Given the description of an element on the screen output the (x, y) to click on. 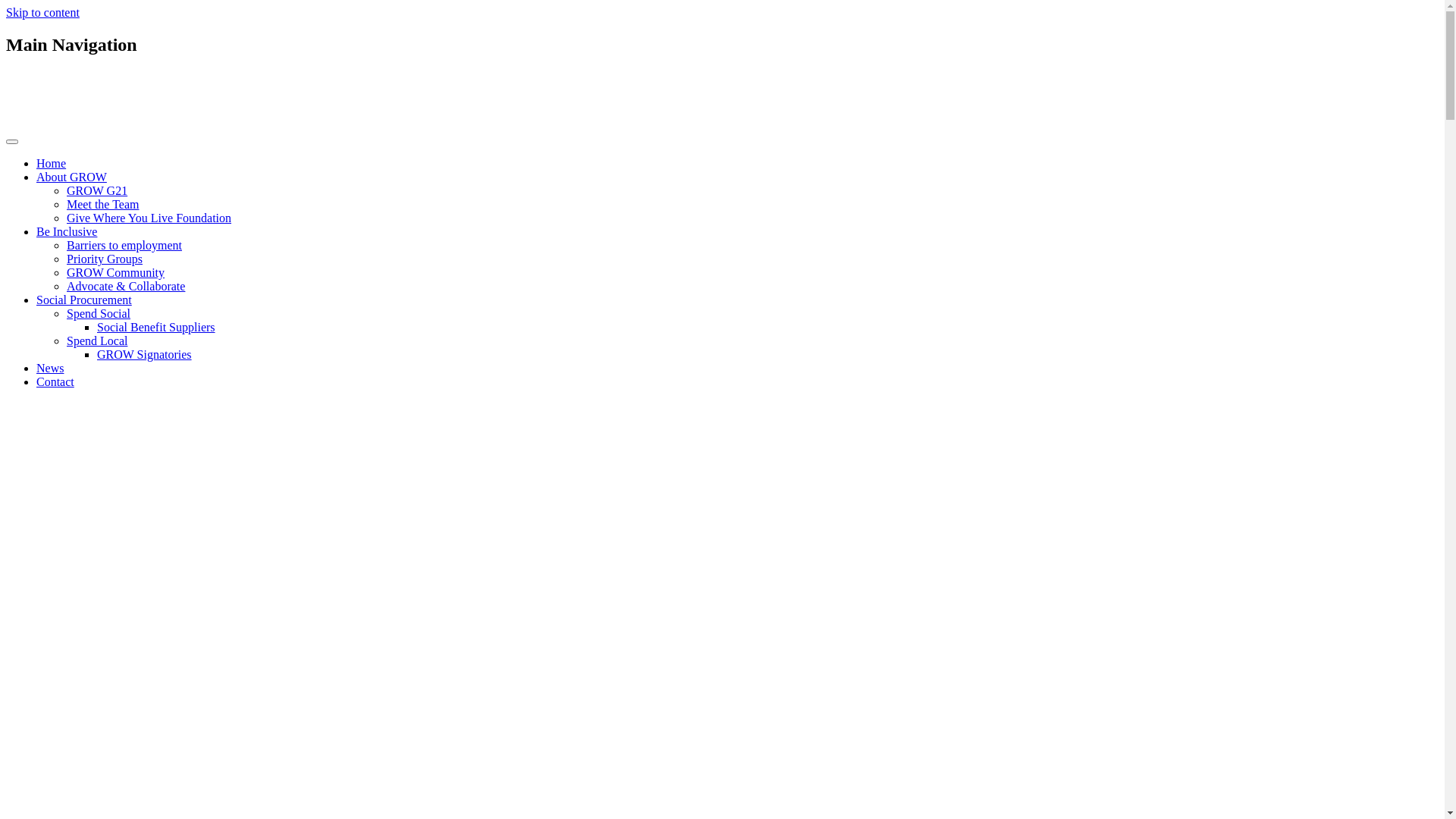
Spend Social Element type: text (98, 313)
About GROW Element type: text (71, 176)
Meet the Team Element type: text (102, 203)
GROW Community Element type: text (115, 272)
Barriers to employment Element type: text (124, 244)
Advocate & Collaborate Element type: text (125, 285)
Social Procurement Element type: text (83, 299)
Social Benefit Suppliers Element type: text (156, 326)
Priority Groups Element type: text (104, 258)
Home Element type: text (50, 162)
GROW G21 Element type: text (96, 190)
News Element type: text (49, 367)
Give Where You Live Foundation Element type: text (148, 217)
Spend Local Element type: text (96, 340)
Contact Element type: text (55, 381)
Be Inclusive Element type: text (66, 231)
Skip to content Element type: text (42, 12)
GROW Signatories Element type: text (144, 354)
